Given the description of an element on the screen output the (x, y) to click on. 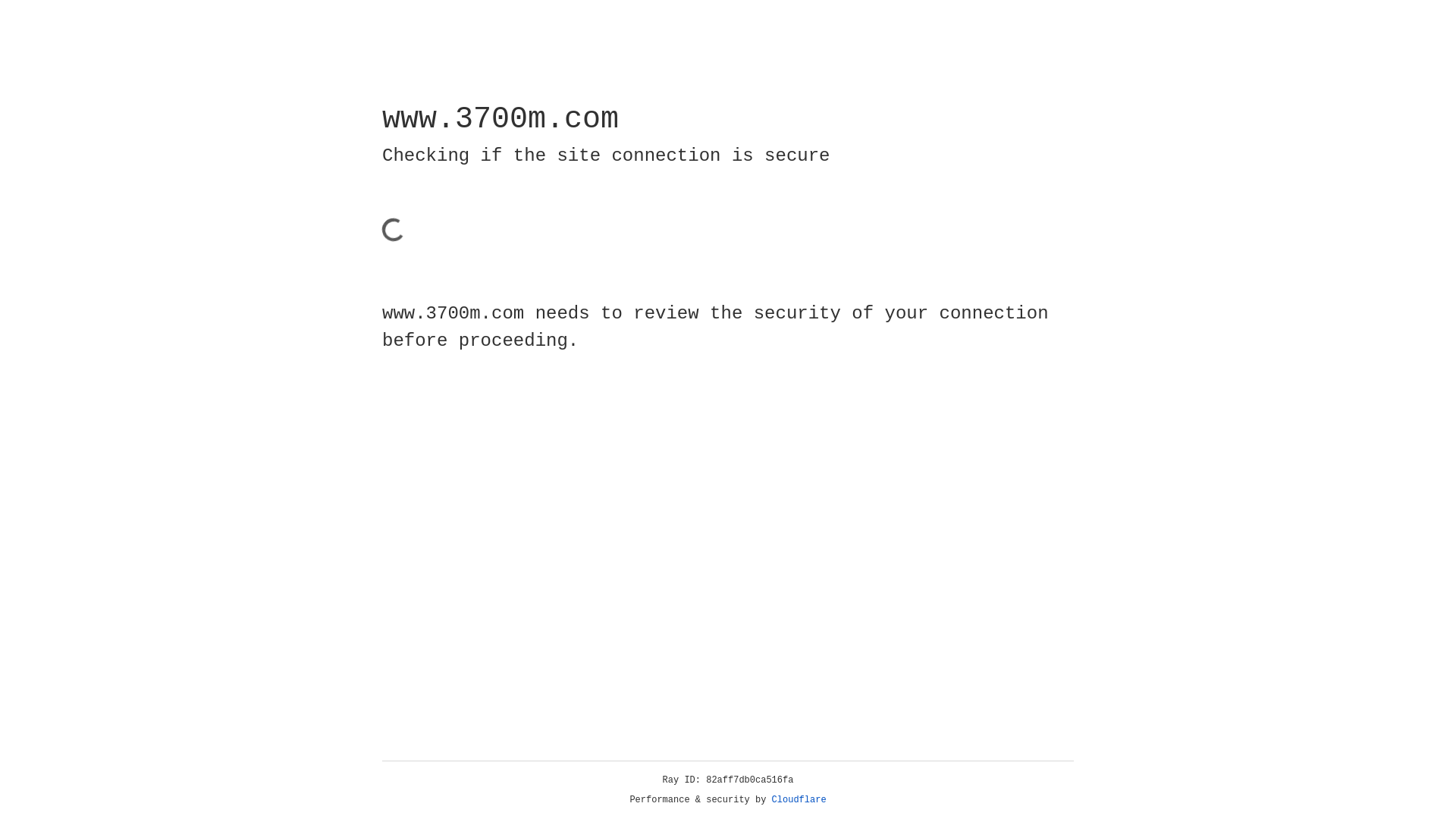
Cloudflare Element type: text (798, 799)
